Given the description of an element on the screen output the (x, y) to click on. 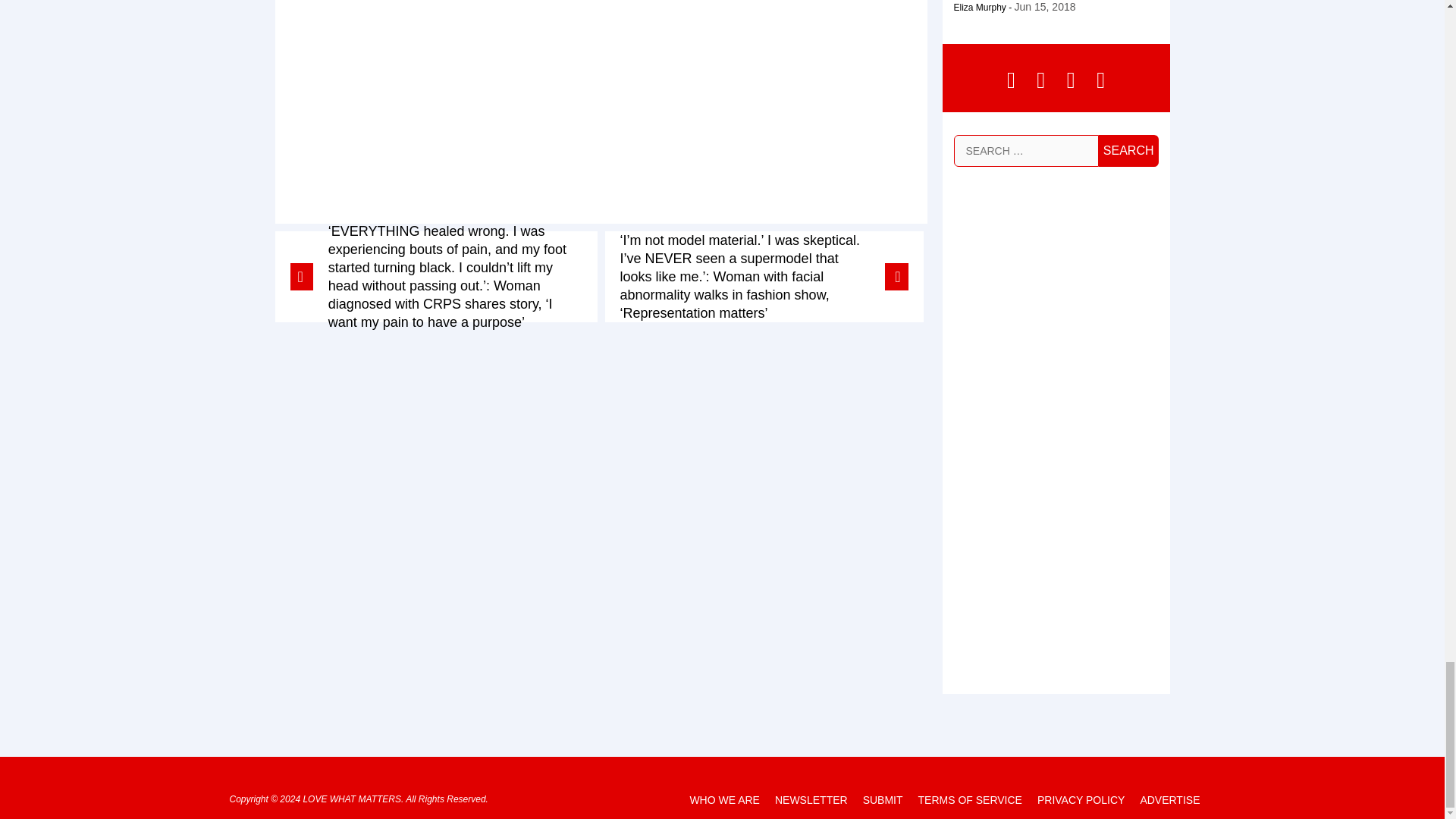
June 15, 2018 (1044, 6)
Search (1128, 150)
Search (1128, 150)
